Given the description of an element on the screen output the (x, y) to click on. 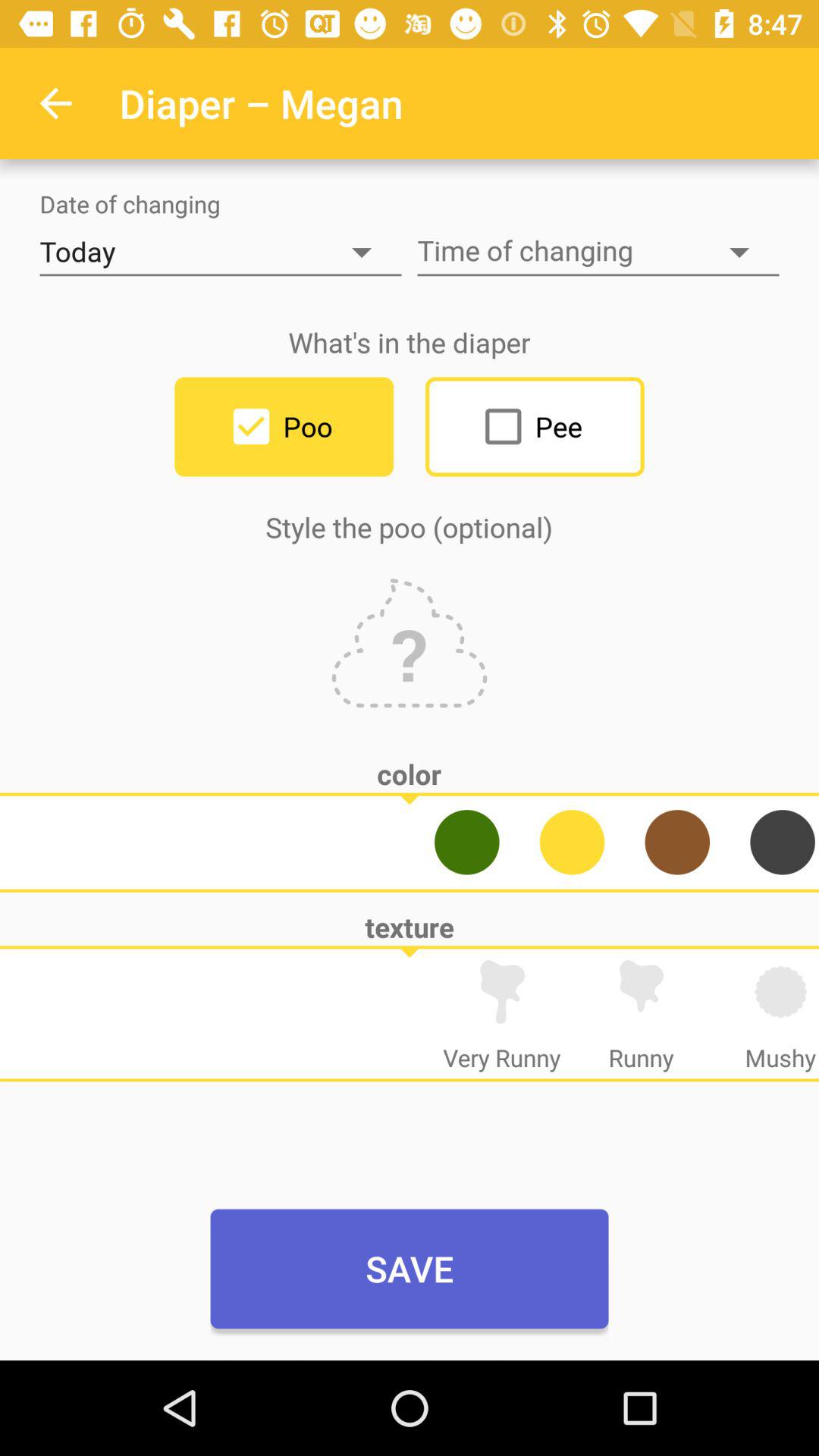
pick black as poo color (782, 842)
